Given the description of an element on the screen output the (x, y) to click on. 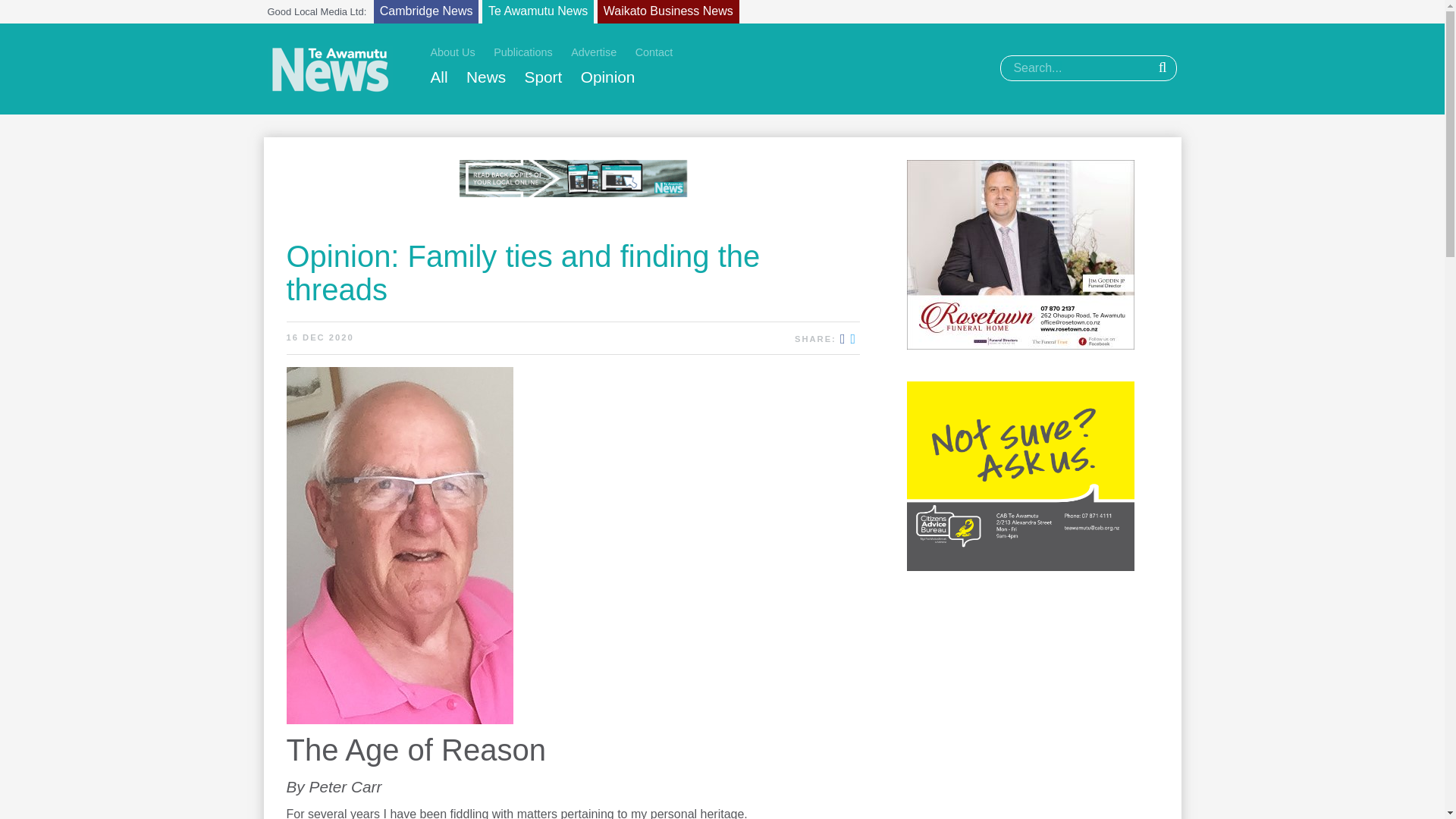
News (485, 76)
Contact (653, 51)
Sport (543, 76)
Cambridge News (426, 11)
Waikato Business News (667, 11)
About Us (453, 51)
Publications (523, 51)
Te Awamutu News (537, 11)
Opinion (607, 76)
All (439, 76)
